Given the description of an element on the screen output the (x, y) to click on. 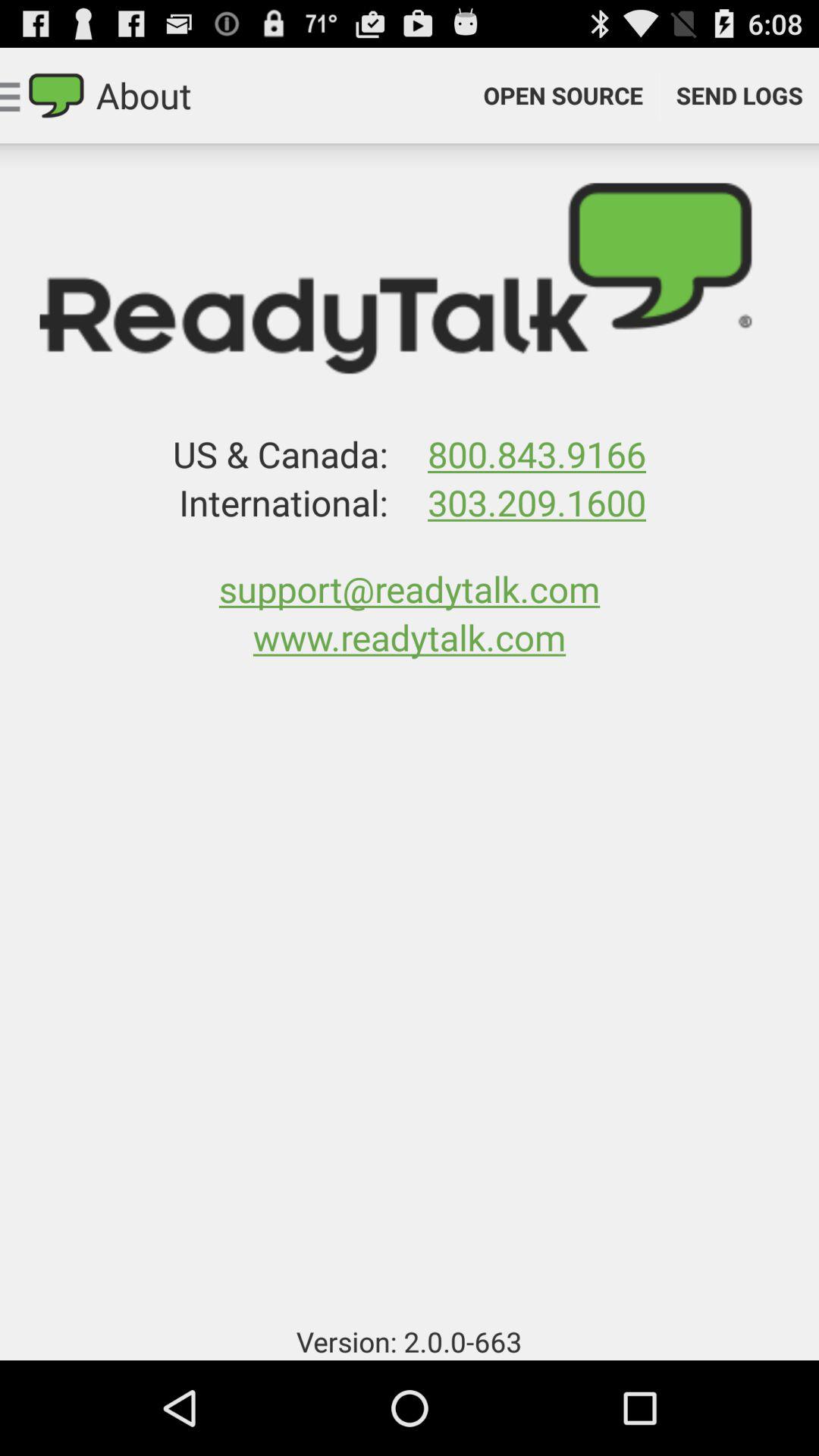
tap app next to the about (563, 95)
